Given the description of an element on the screen output the (x, y) to click on. 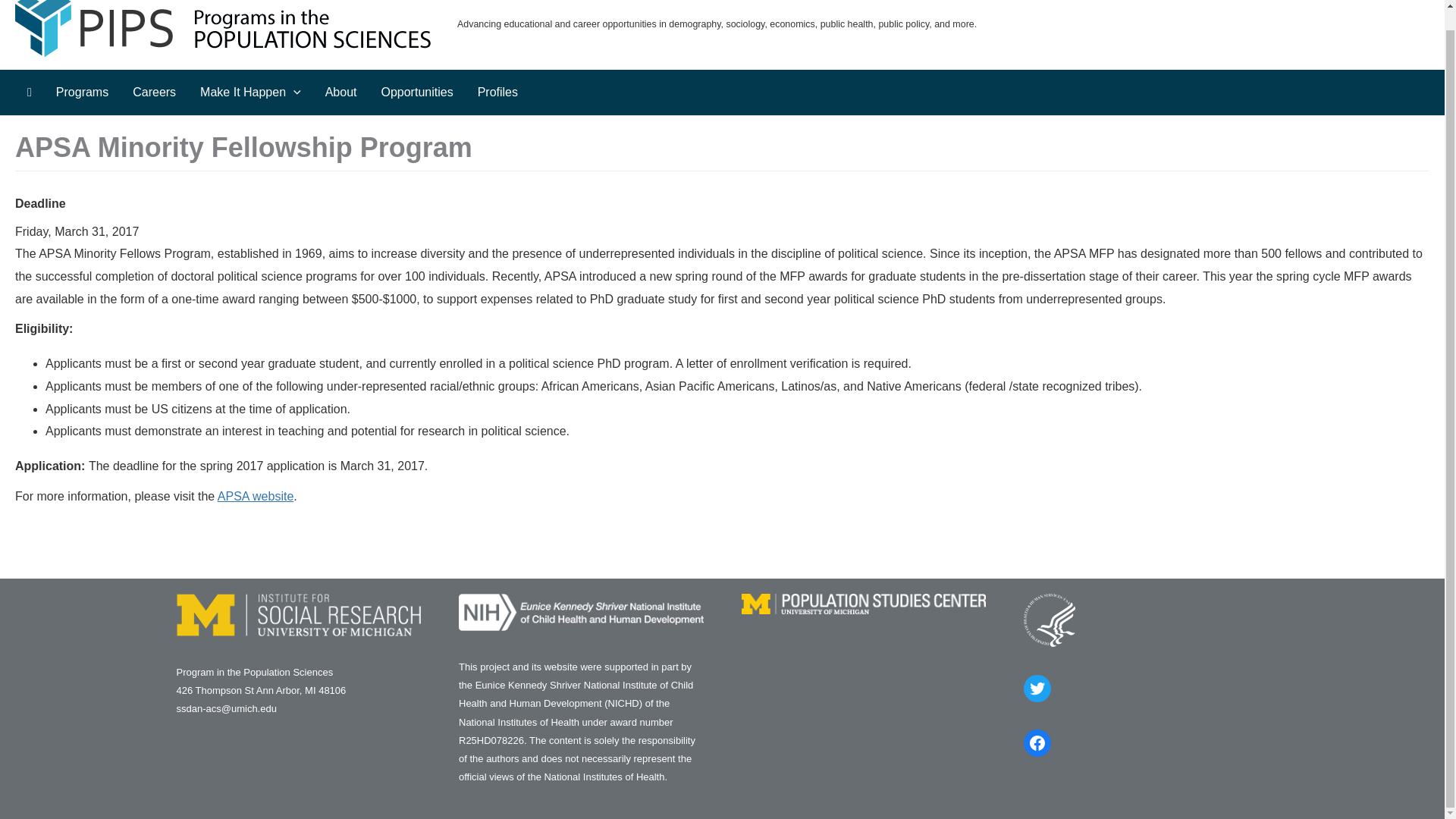
Careers (153, 92)
Opportunities (416, 92)
Programs (81, 92)
Profiles (497, 92)
APSA website (255, 495)
About (341, 92)
Make It Happen (250, 92)
Twitter (1037, 687)
Facebook (1037, 742)
